Given the description of an element on the screen output the (x, y) to click on. 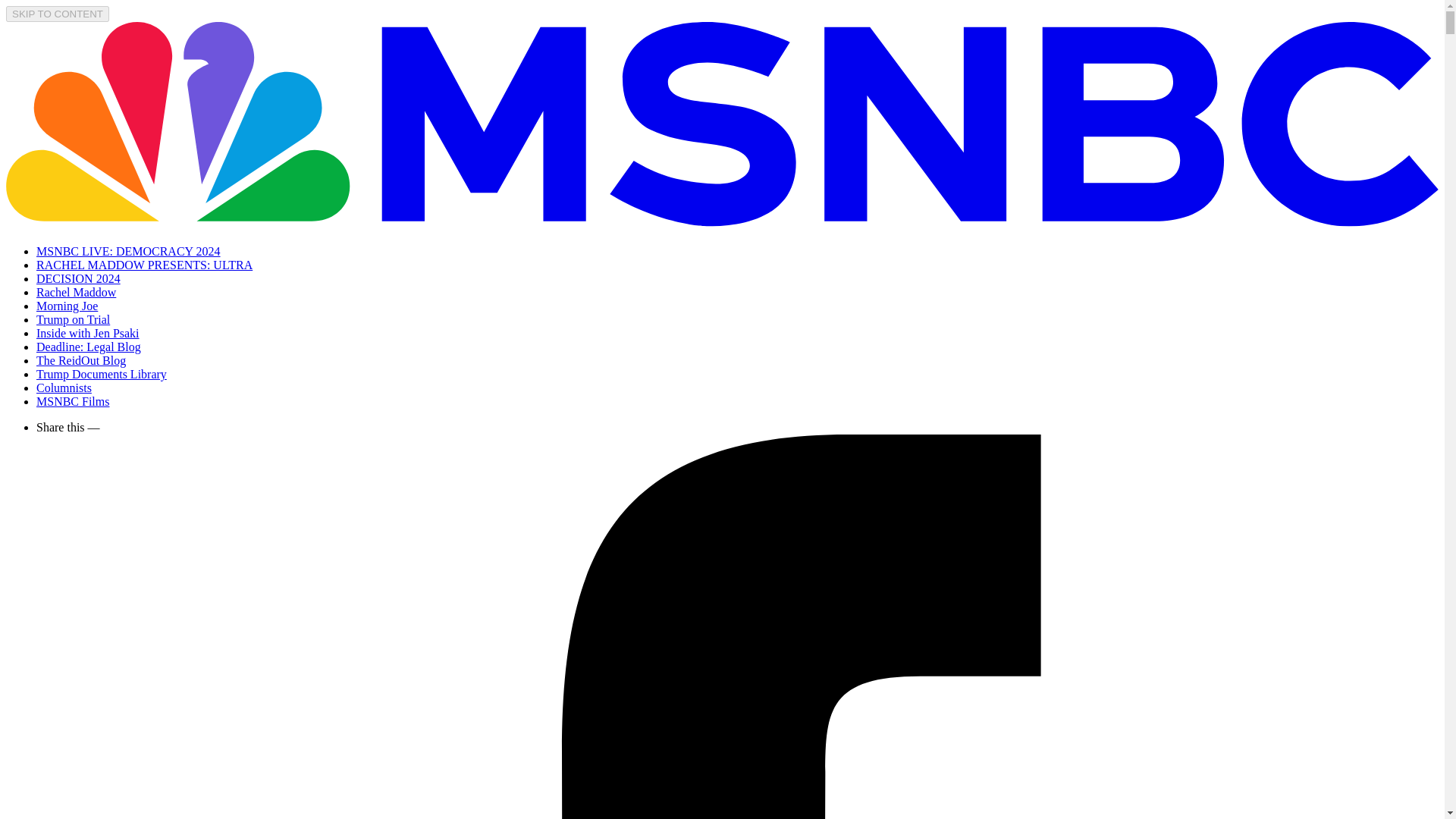
Morning Joe (66, 305)
MSNBC Films (72, 400)
Inside with Jen Psaki (87, 332)
RACHEL MADDOW PRESENTS: ULTRA (143, 264)
SKIP TO CONTENT (57, 13)
The ReidOut Blog (80, 359)
Rachel Maddow (76, 291)
MSNBC LIVE: DEMOCRACY 2024 (128, 250)
Deadline: Legal Blog (88, 346)
Trump Documents Library (101, 373)
